Given the description of an element on the screen output the (x, y) to click on. 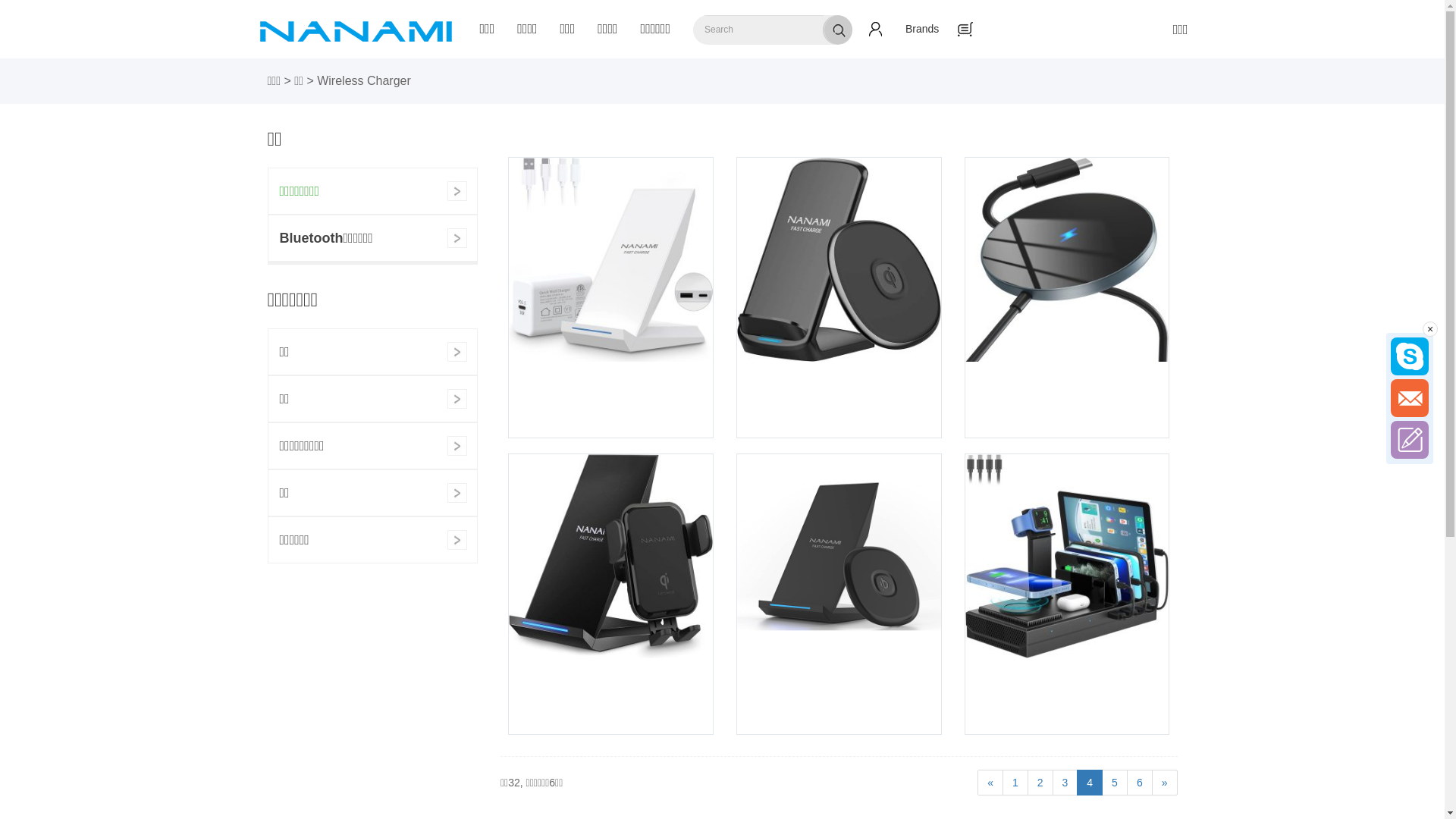
Wireless Charger Element type: text (363, 80)
1 Element type: text (1015, 782)
3 Element type: text (1065, 782)
6 Element type: text (1139, 782)
2 Element type: text (1040, 782)
5 Element type: text (1114, 782)
